Given the description of an element on the screen output the (x, y) to click on. 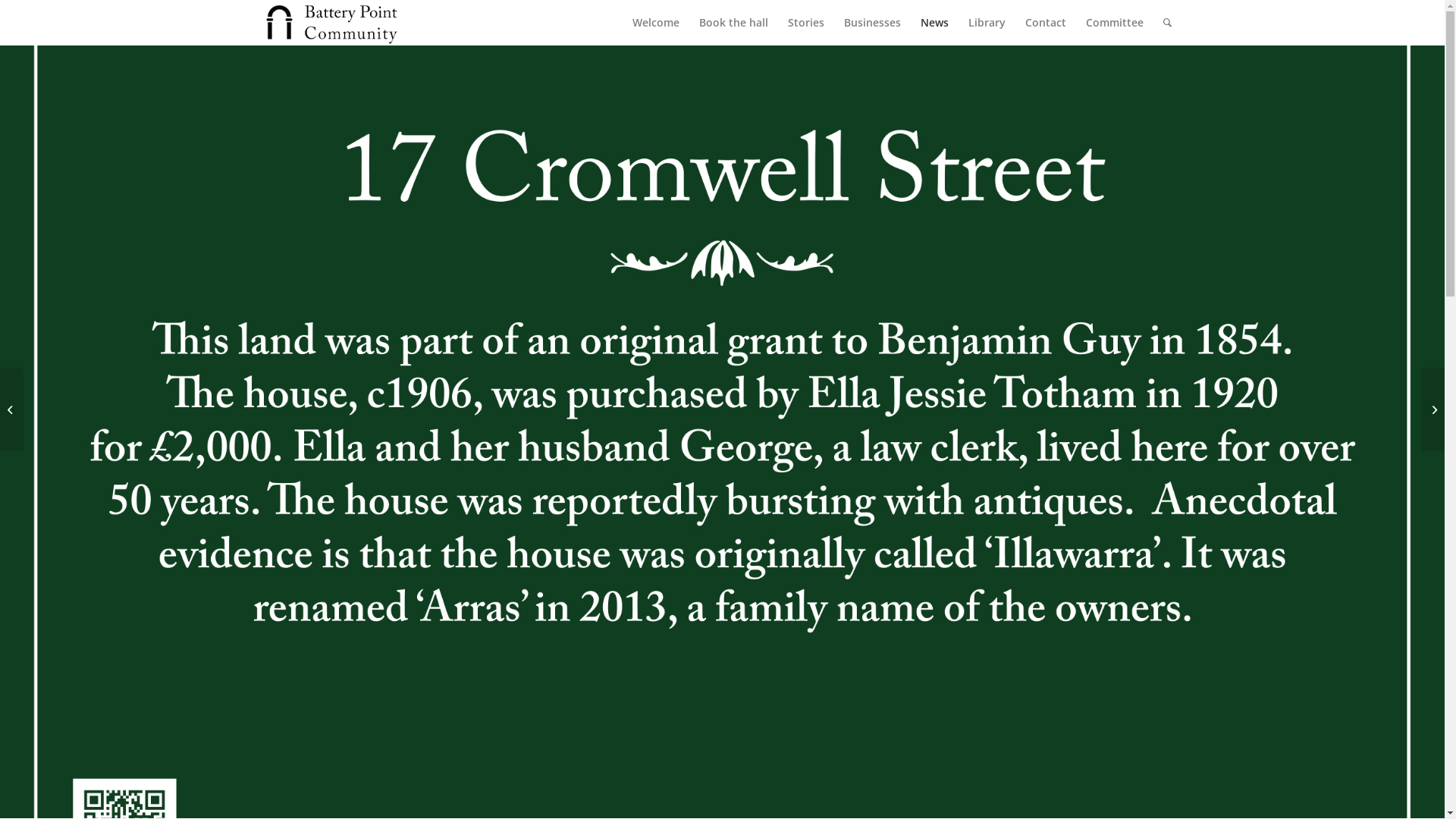
Library Element type: text (986, 22)
Welcome Element type: text (654, 22)
Book the hall Element type: text (732, 22)
Stories Element type: text (806, 22)
News Element type: text (933, 22)
Businesses Element type: text (872, 22)
Committee Element type: text (1113, 22)
Contact Element type: text (1044, 22)
